Given the description of an element on the screen output the (x, y) to click on. 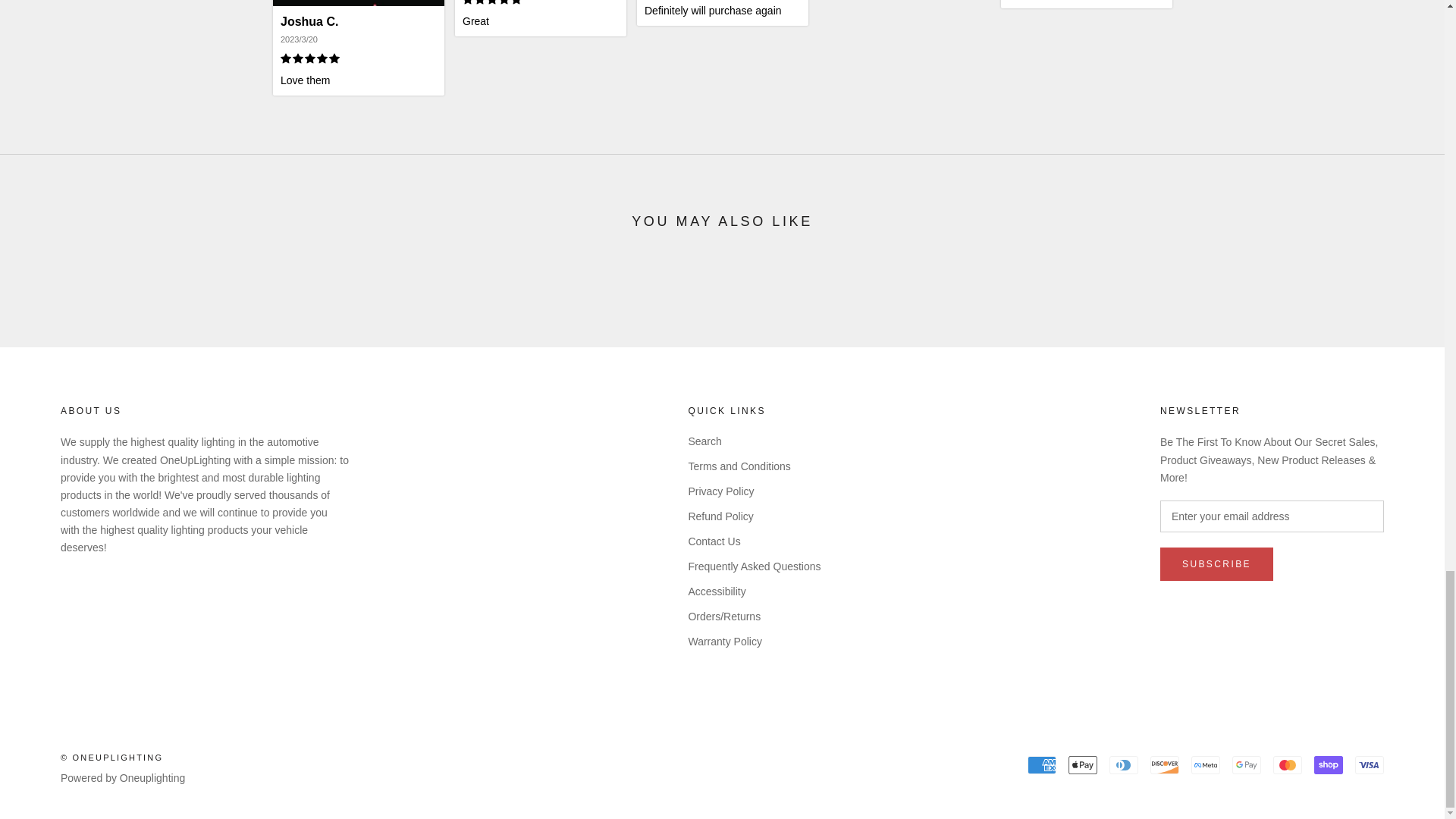
American Express (1042, 764)
Diners Club (1123, 764)
Visa (1369, 764)
Meta Pay (1205, 764)
Apple Pay (1082, 764)
Mastercard (1286, 764)
Shop Pay (1328, 764)
Discover (1164, 764)
Google Pay (1245, 764)
